Given the description of an element on the screen output the (x, y) to click on. 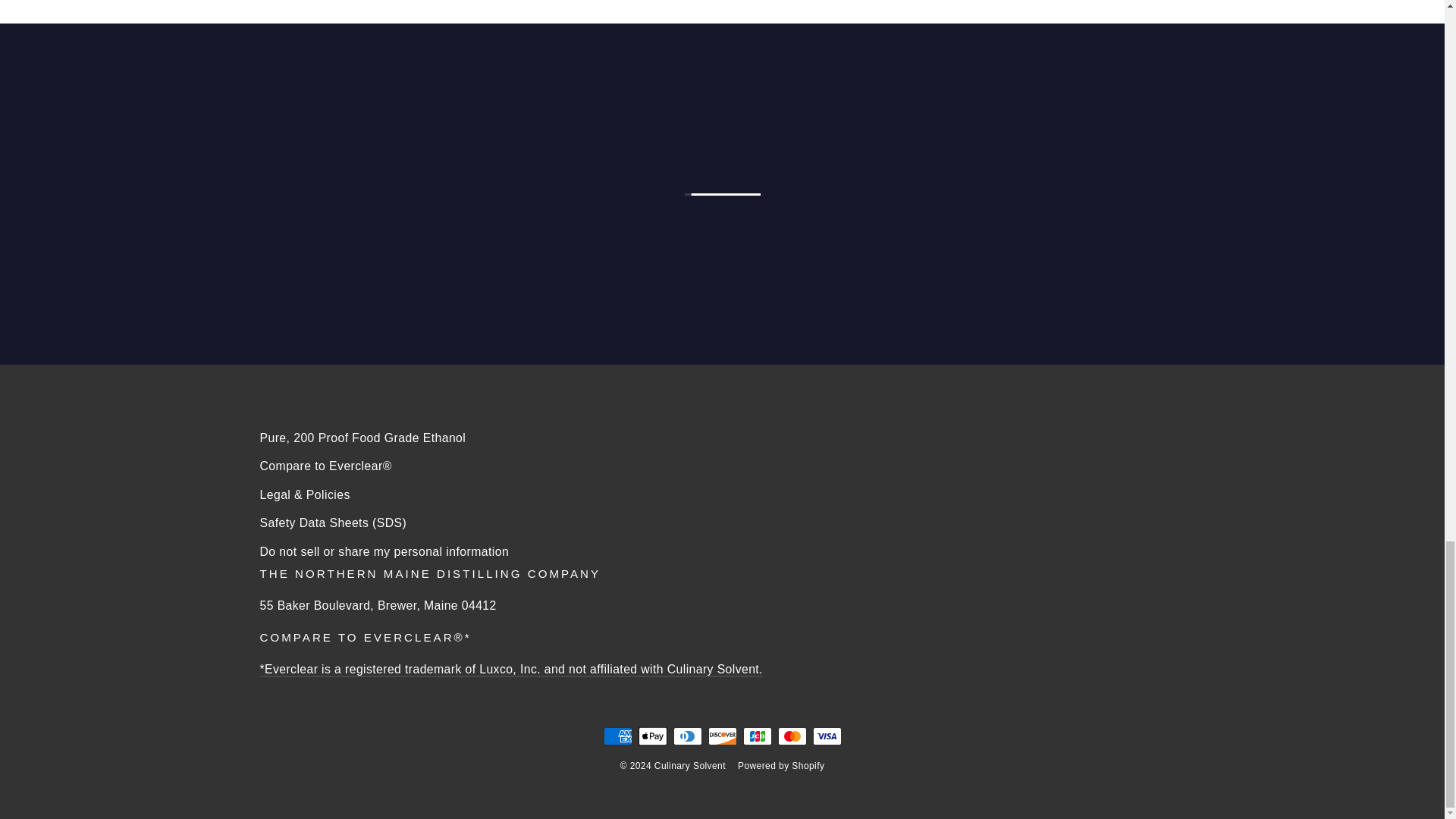
Mastercard (791, 736)
Apple Pay (652, 736)
Diners Club (686, 736)
Visa (826, 736)
Discover (721, 736)
JCB (756, 736)
American Express (617, 736)
